Given the description of an element on the screen output the (x, y) to click on. 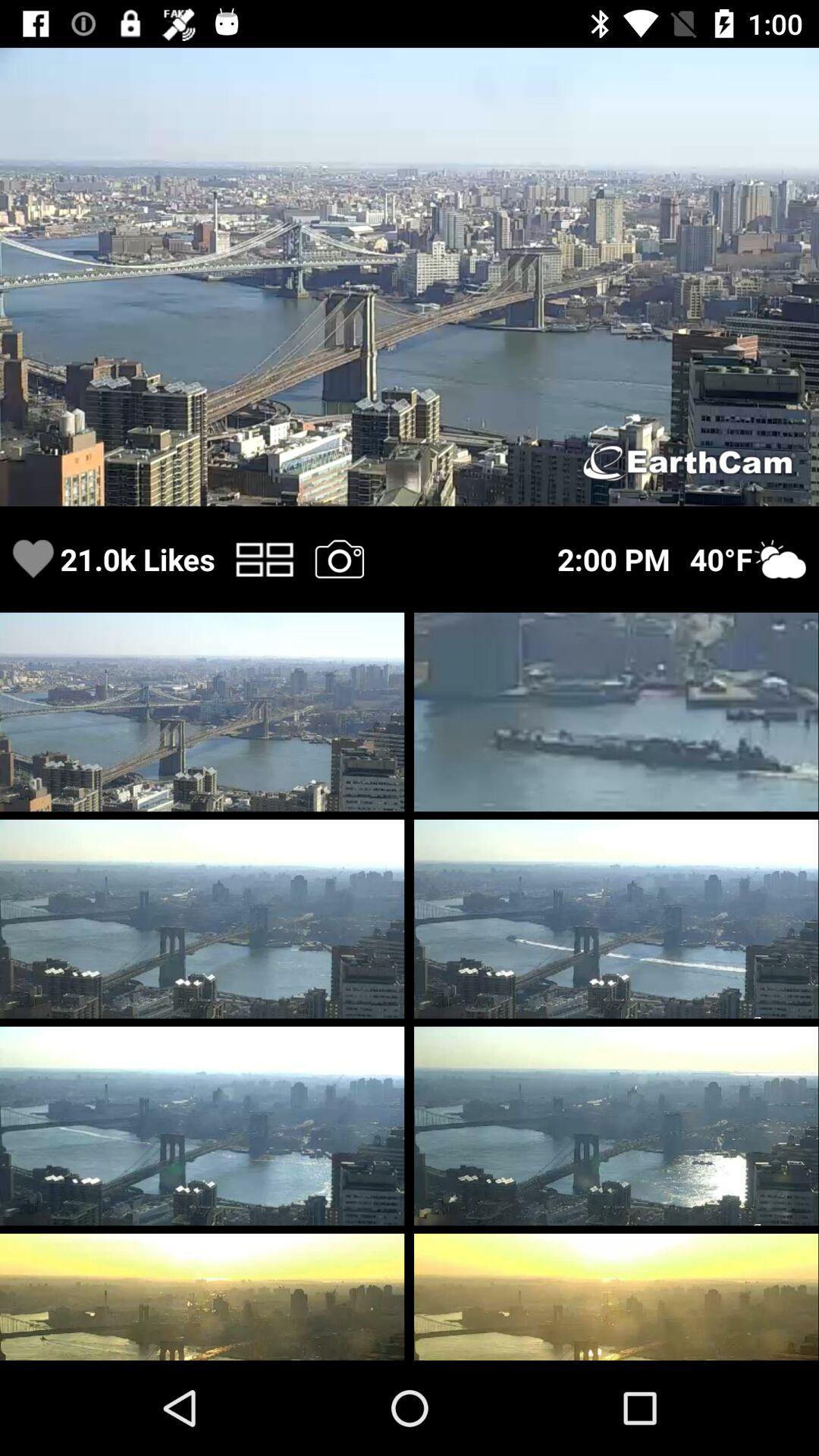
indicate camera (339, 558)
